Given the description of an element on the screen output the (x, y) to click on. 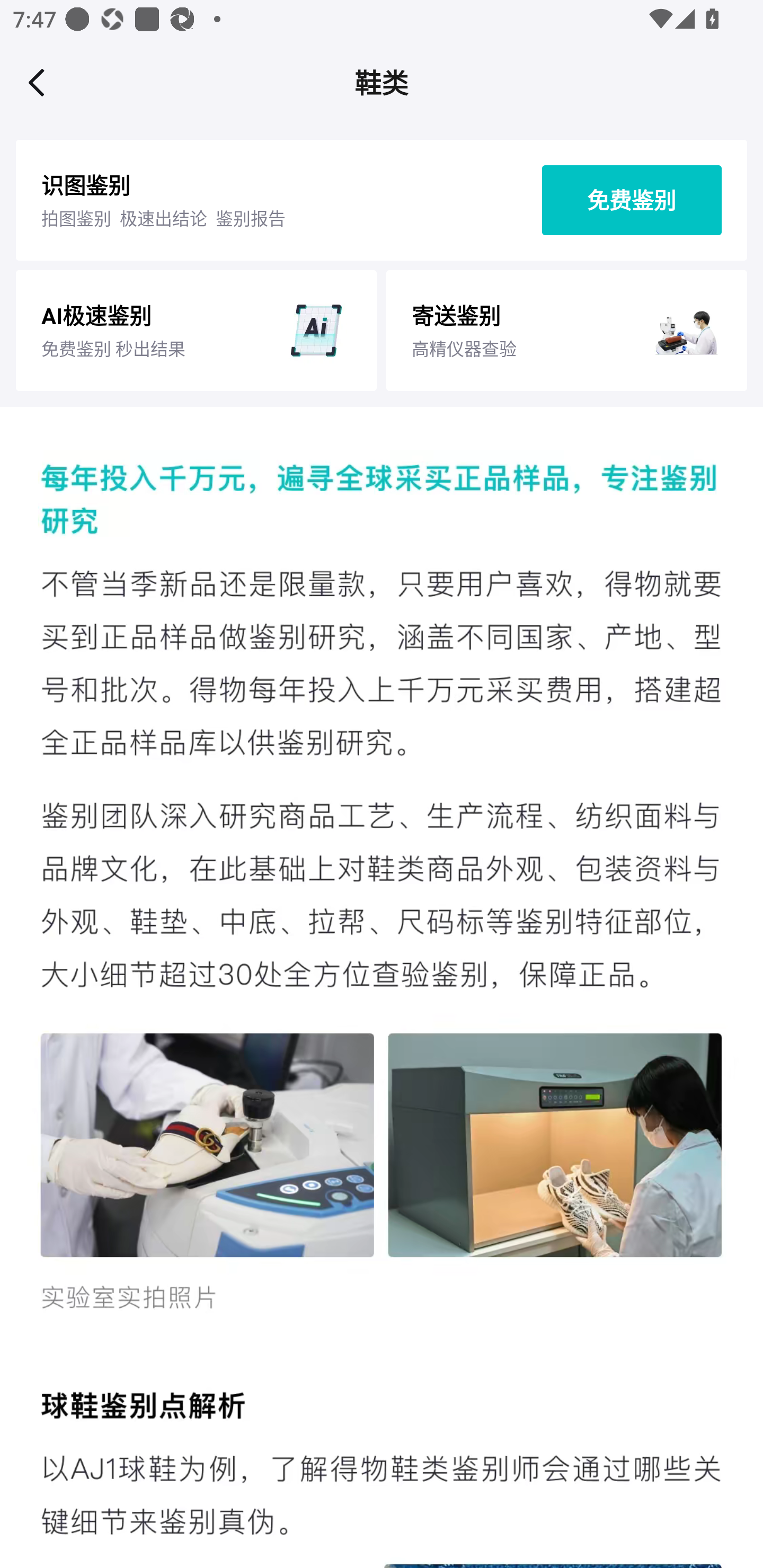
Navigate up (36, 82)
免费鉴别 (631, 199)
AI极速鉴别 免费鉴别 秒出结果 (196, 329)
寄送鉴别 高精仪器查验 (566, 329)
